Given the description of an element on the screen output the (x, y) to click on. 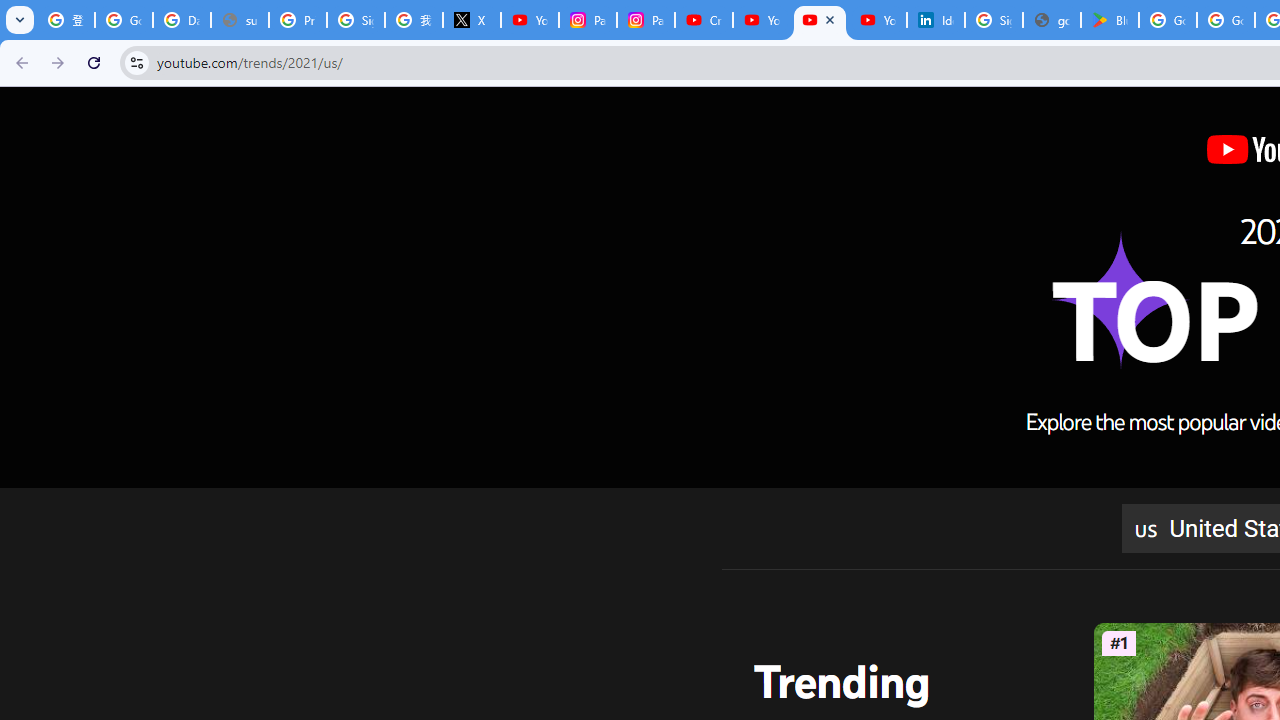
Identity verification via Persona | LinkedIn Help (936, 20)
support.google.com - Network error (239, 20)
Bluey: Let's Play! - Apps on Google Play (1110, 20)
YouTube Culture & Trends - YouTube Top 10, 2021 (877, 20)
Sign in - Google Accounts (355, 20)
Google Workspace - Specific Terms (1225, 20)
YouTube Culture & Trends - YouTube Top 10, 2021 (819, 20)
